Given the description of an element on the screen output the (x, y) to click on. 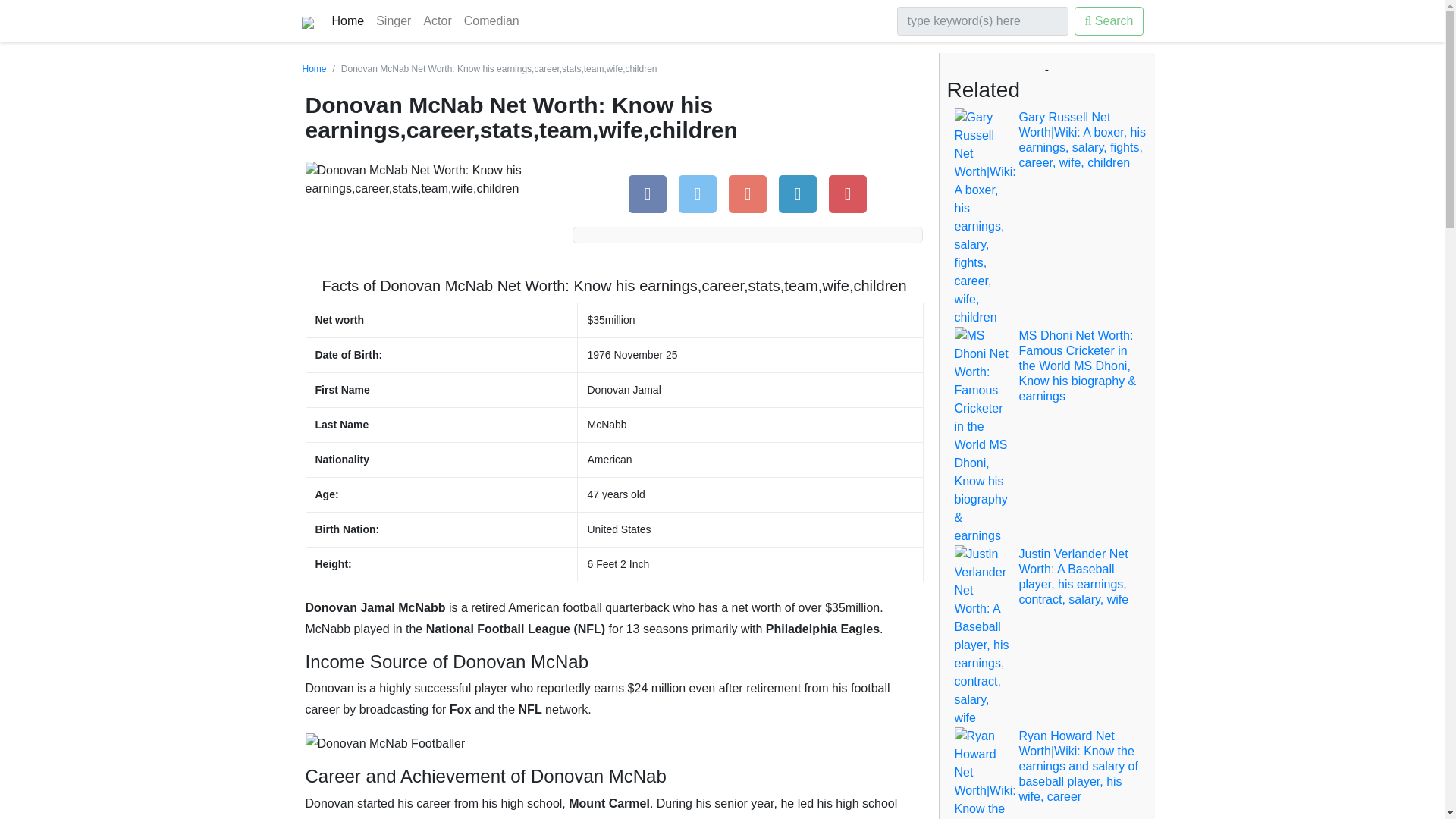
Comedian (491, 20)
Home (313, 68)
Singer (392, 20)
Search (1108, 21)
Actor (436, 20)
